Given the description of an element on the screen output the (x, y) to click on. 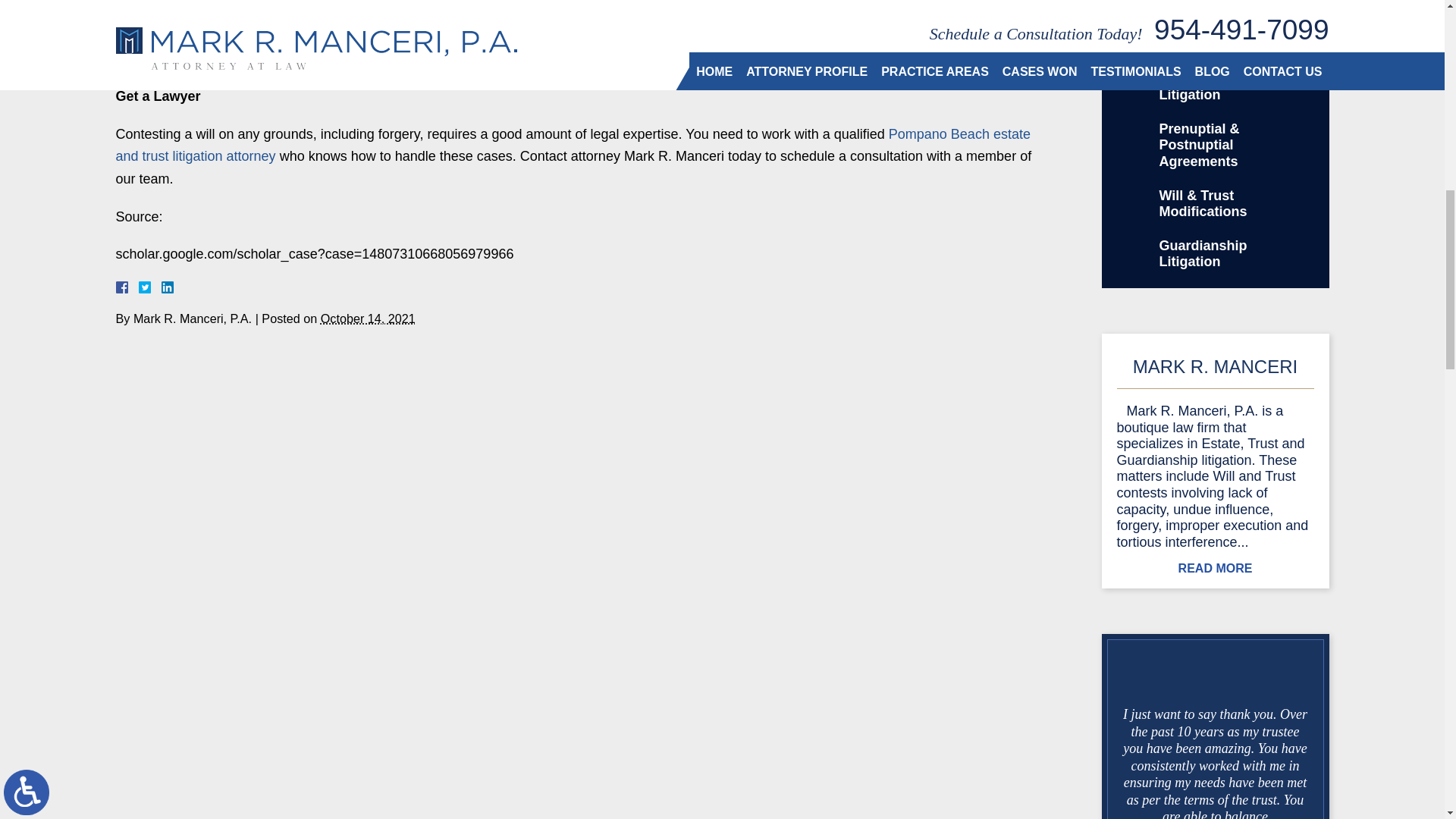
Twitter (149, 287)
Facebook (139, 287)
2021-10-14T03:00:05-0700 (367, 318)
LinkedIn (160, 287)
Pompano Beach estate and trust litigation attorney (572, 145)
